Given the description of an element on the screen output the (x, y) to click on. 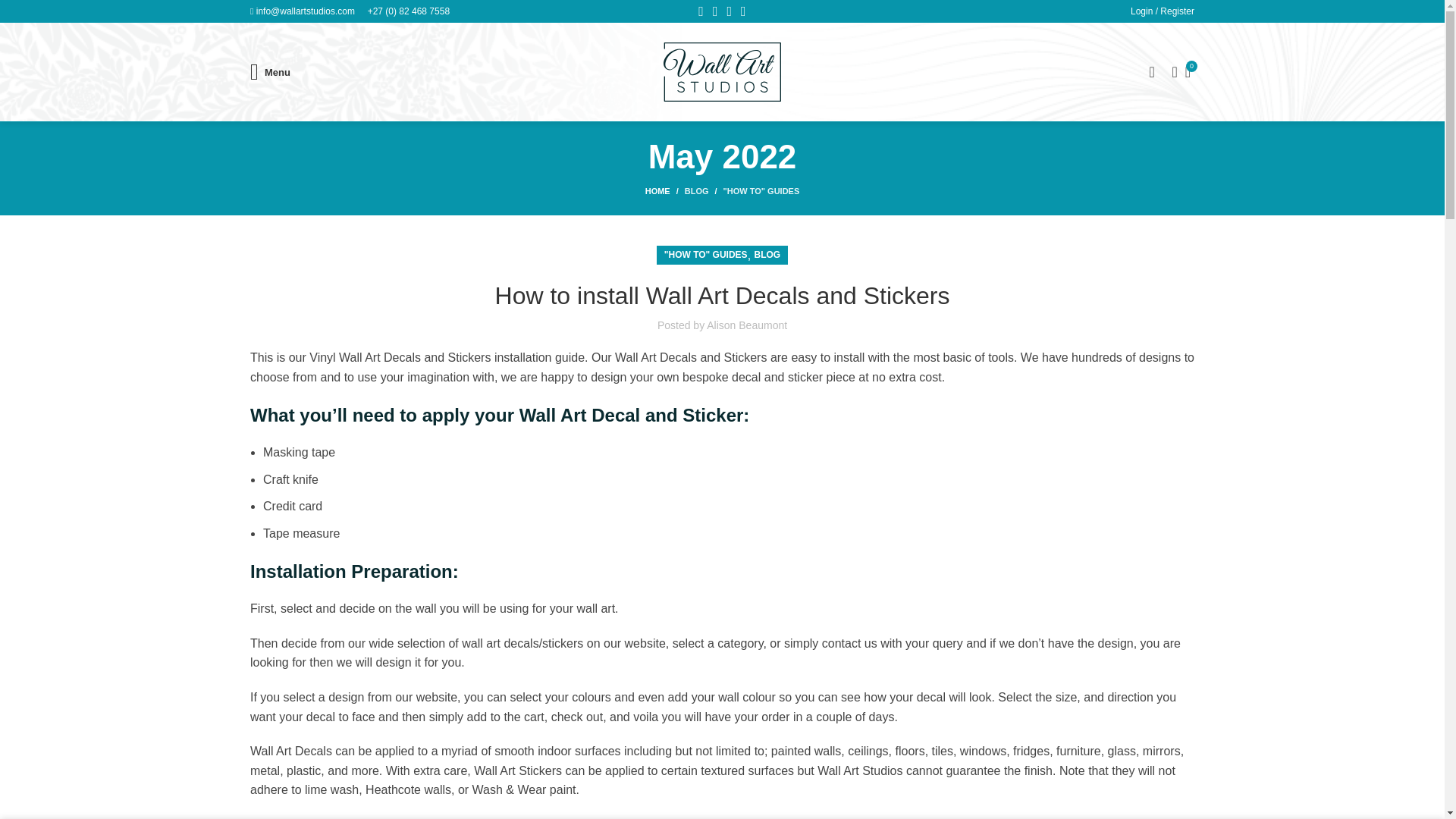
"HOW TO" GUIDES (705, 254)
Menu (270, 71)
"HOW TO" GUIDES (761, 190)
Alison Beaumont (746, 325)
My account (1162, 13)
BLOG (767, 254)
BLOG (696, 190)
HOME (664, 191)
